Given the description of an element on the screen output the (x, y) to click on. 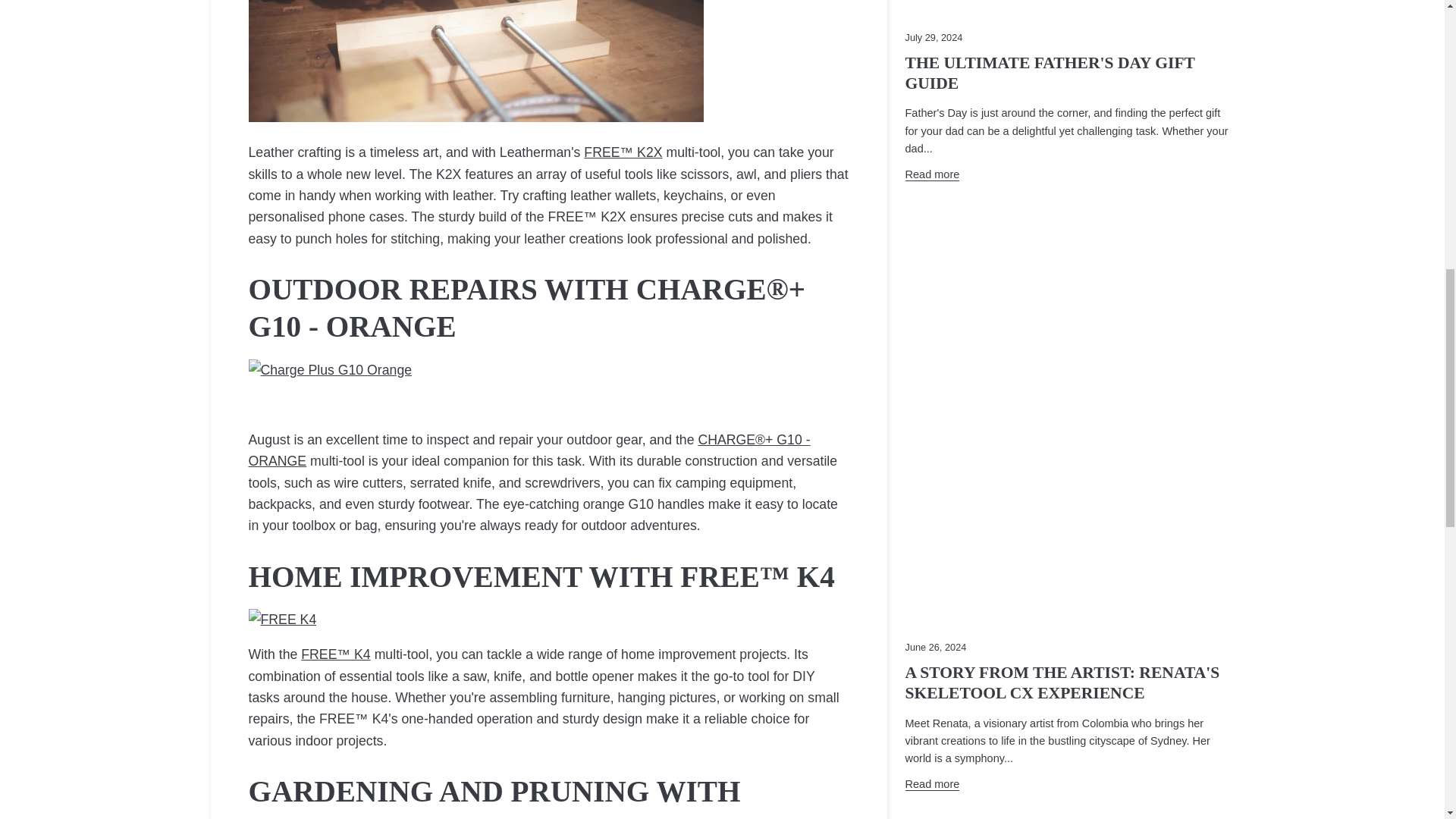
FREE K4 (335, 654)
FREE K4 (282, 619)
FREE K2X (622, 151)
FREE K2X (475, 117)
